Given the description of an element on the screen output the (x, y) to click on. 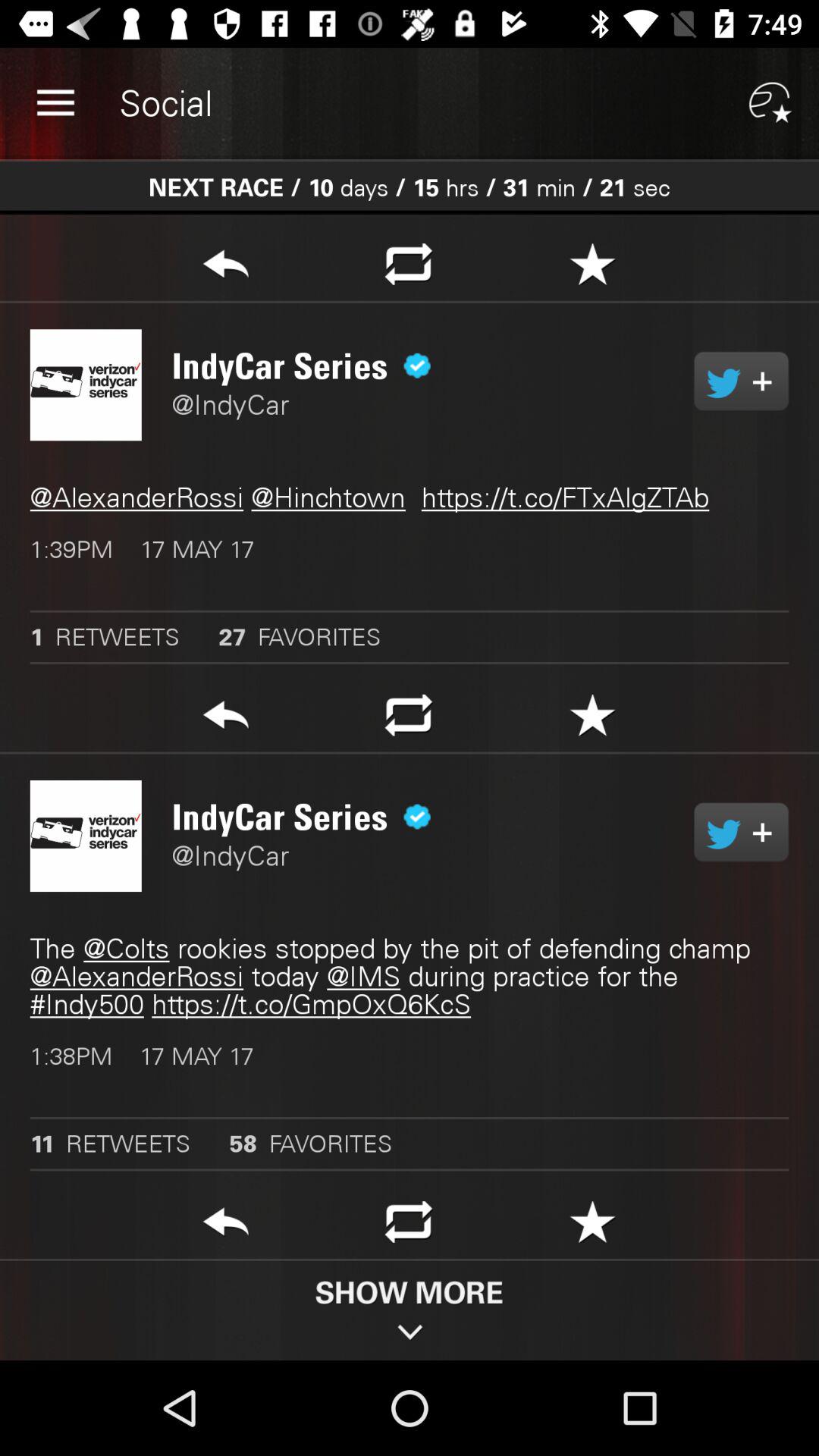
flip to the colts rookies icon (409, 976)
